Given the description of an element on the screen output the (x, y) to click on. 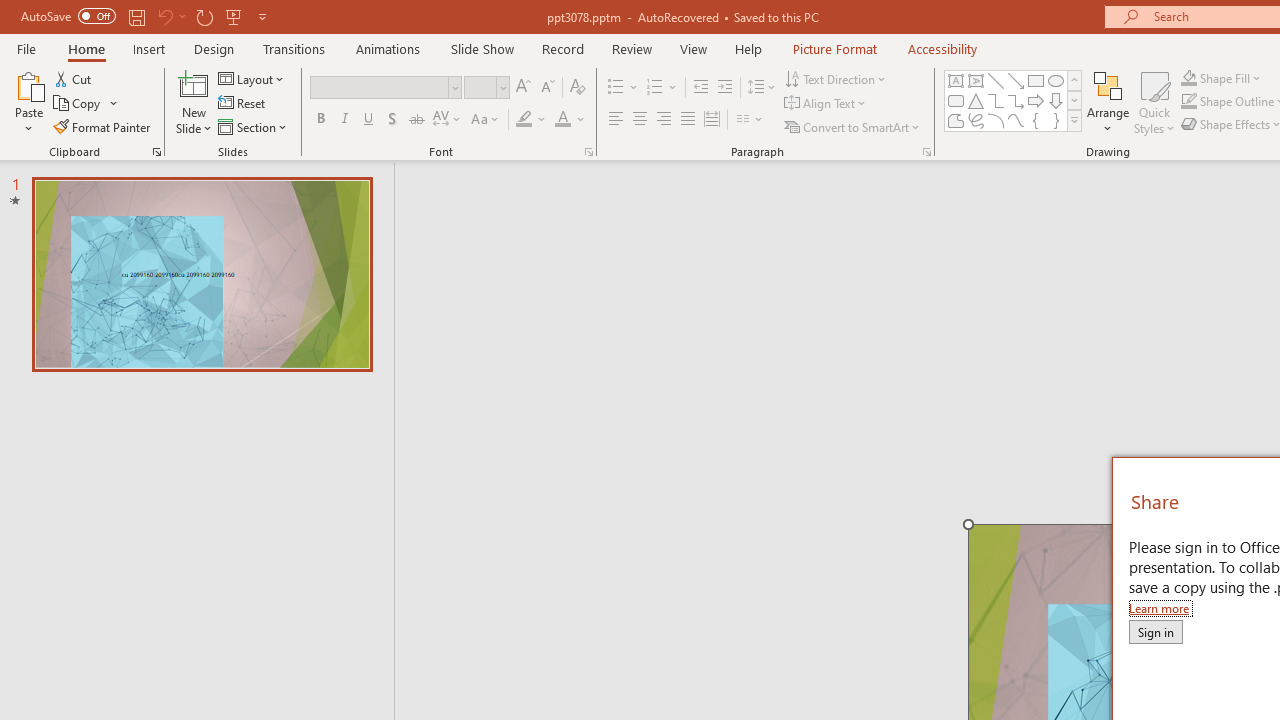
Shape Fill Dark Green, Accent 2 (1188, 78)
